Given the description of an element on the screen output the (x, y) to click on. 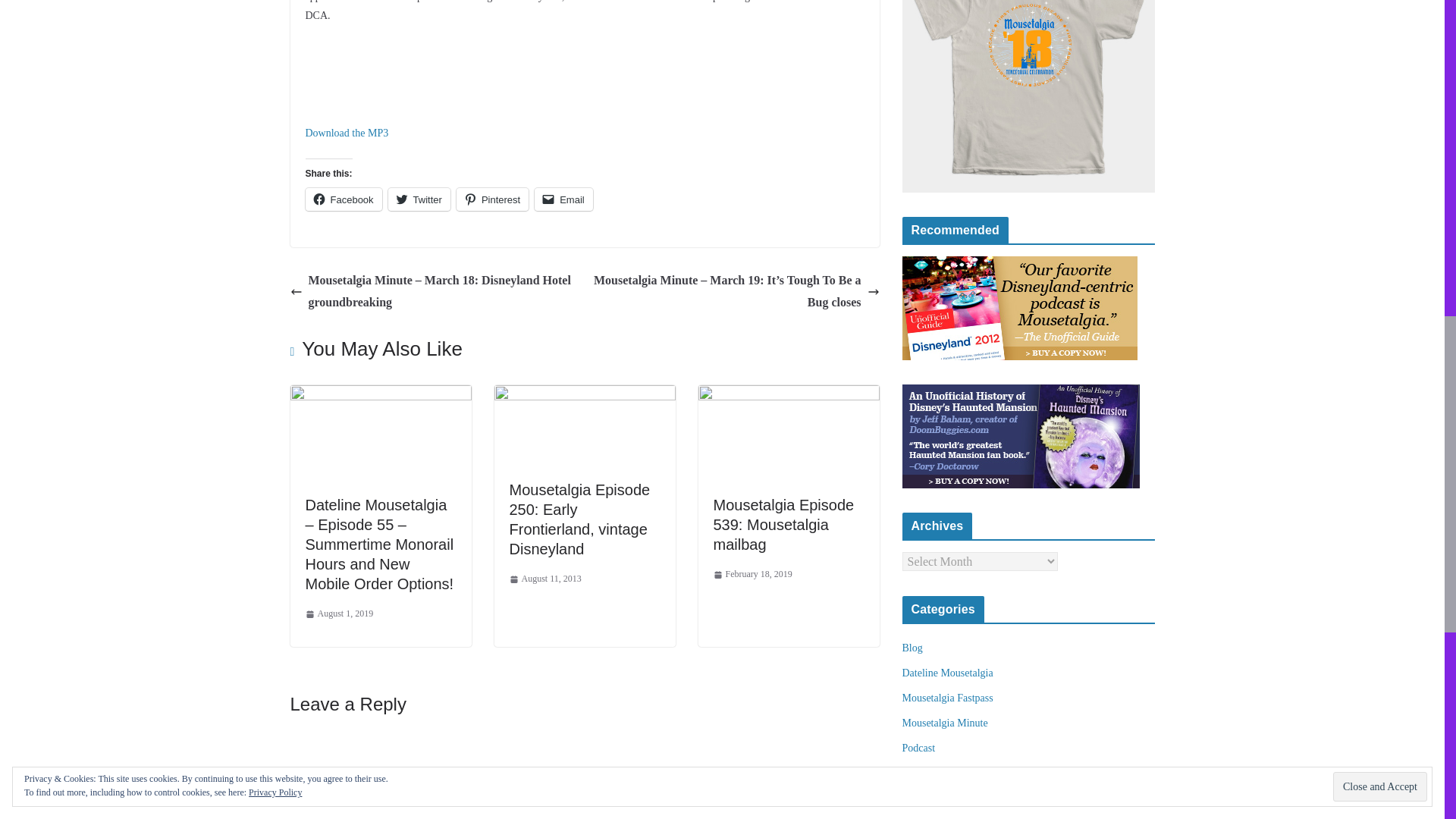
Click to share on Facebook (342, 199)
Twitter (418, 199)
Download the MP3 (346, 132)
Click to share on Pinterest (492, 199)
Click to email a link to a friend (563, 199)
Facebook (342, 199)
Click to share on Twitter (418, 199)
